Given the description of an element on the screen output the (x, y) to click on. 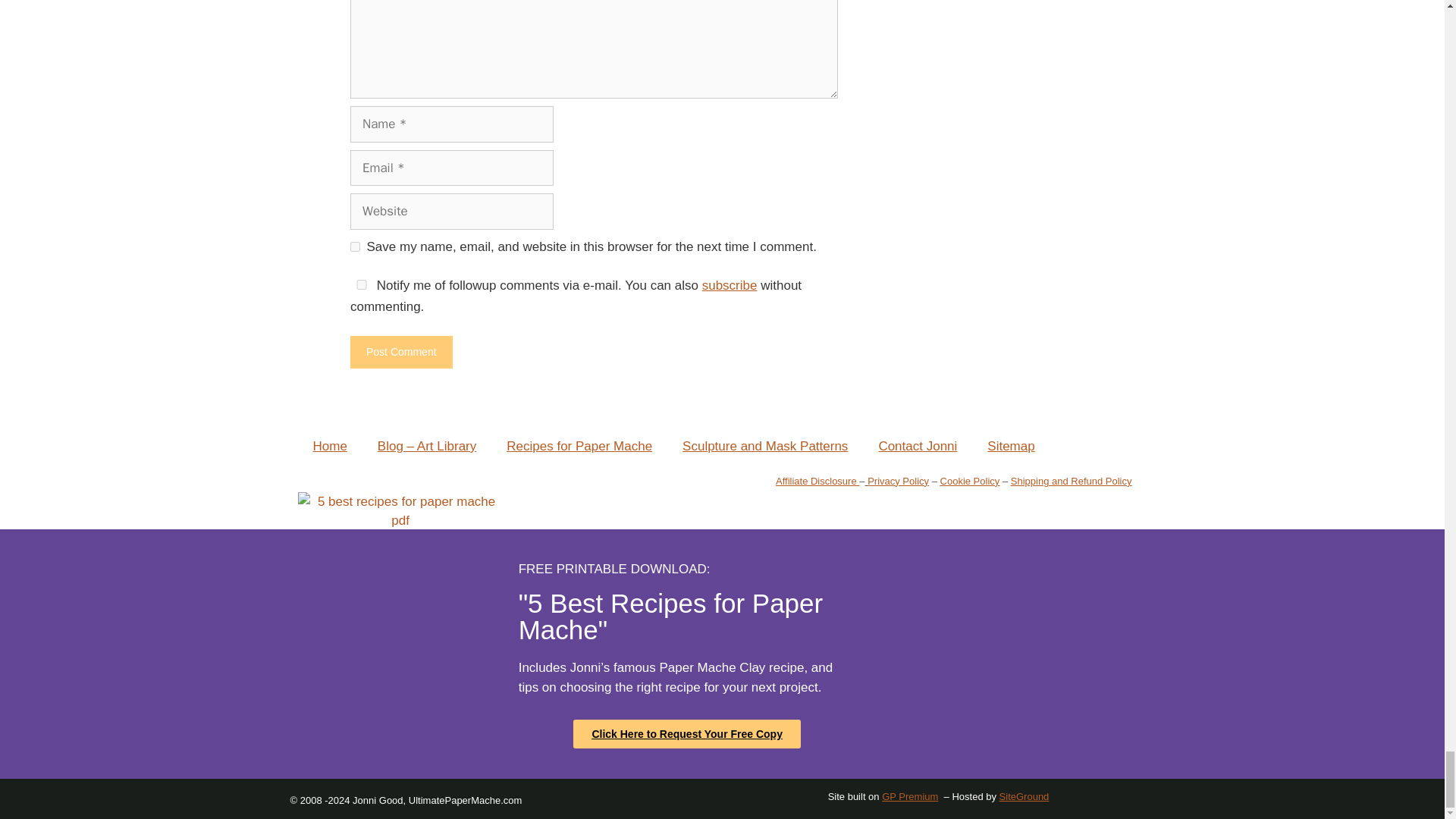
yes (354, 246)
Post Comment (401, 351)
yes (361, 284)
